Given the description of an element on the screen output the (x, y) to click on. 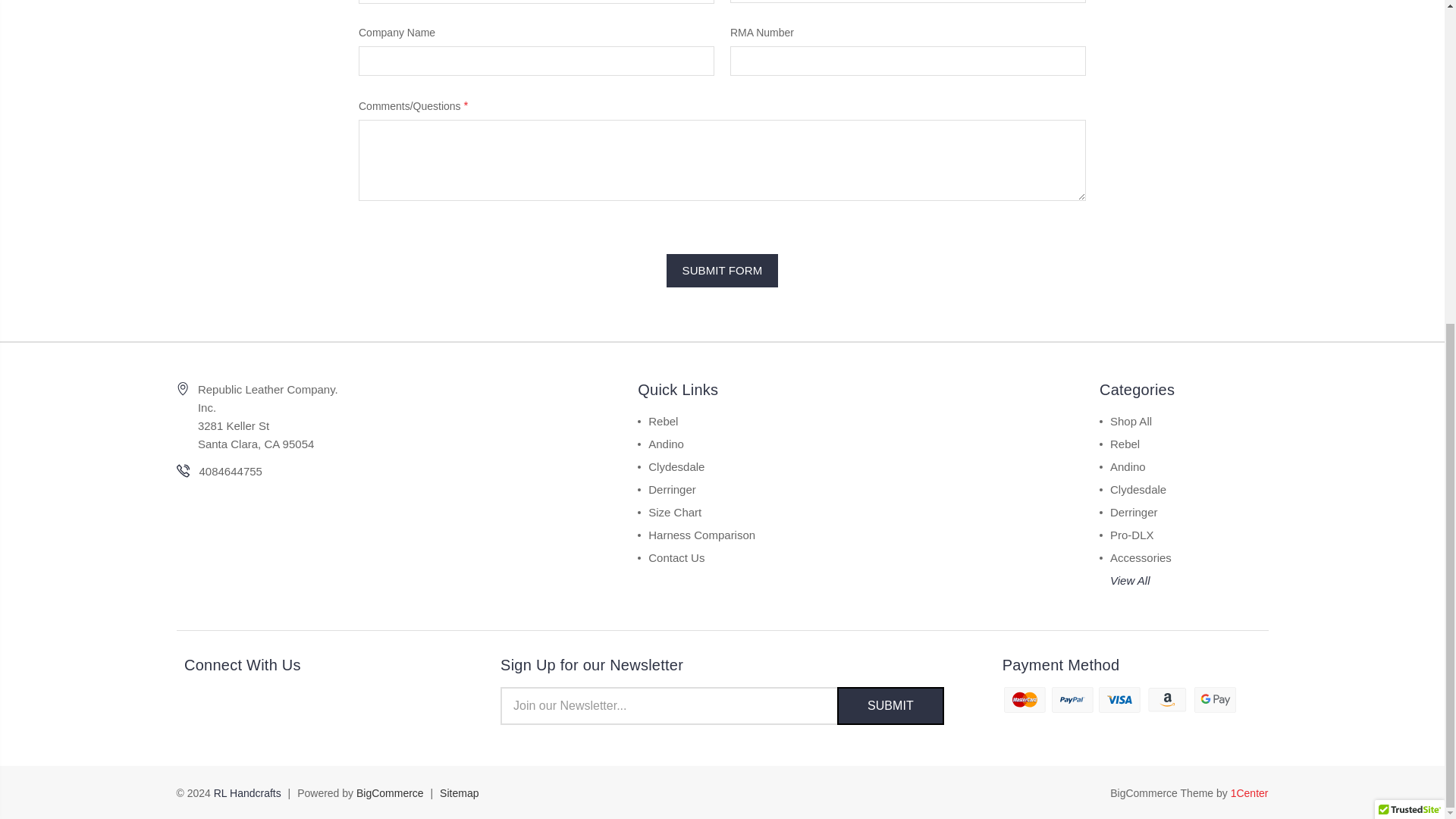
submit (890, 704)
Submit Form (722, 270)
